Given the description of an element on the screen output the (x, y) to click on. 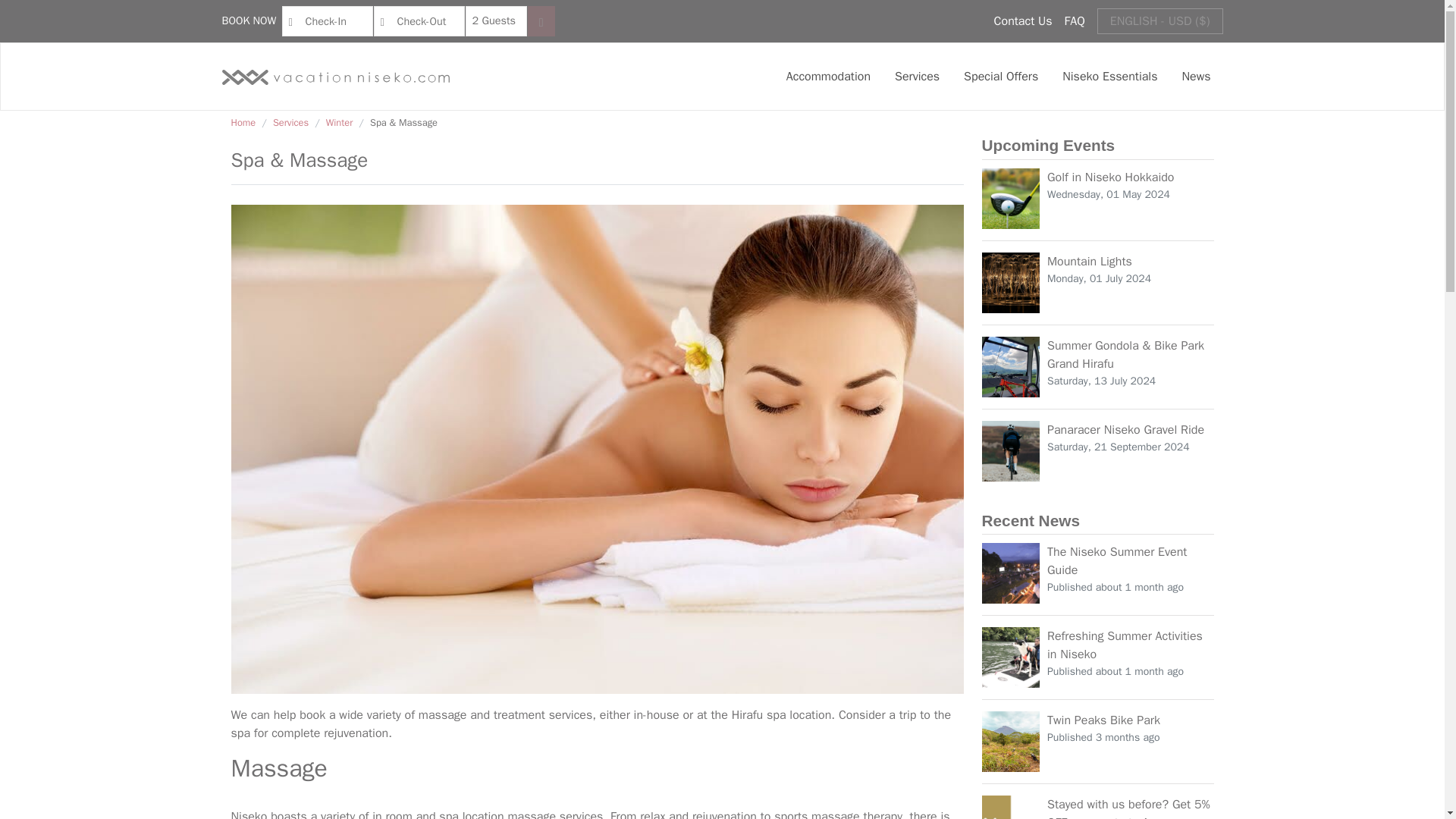
FAQ (1074, 20)
Contact Us (1023, 20)
Accommodation (828, 76)
